Given the description of an element on the screen output the (x, y) to click on. 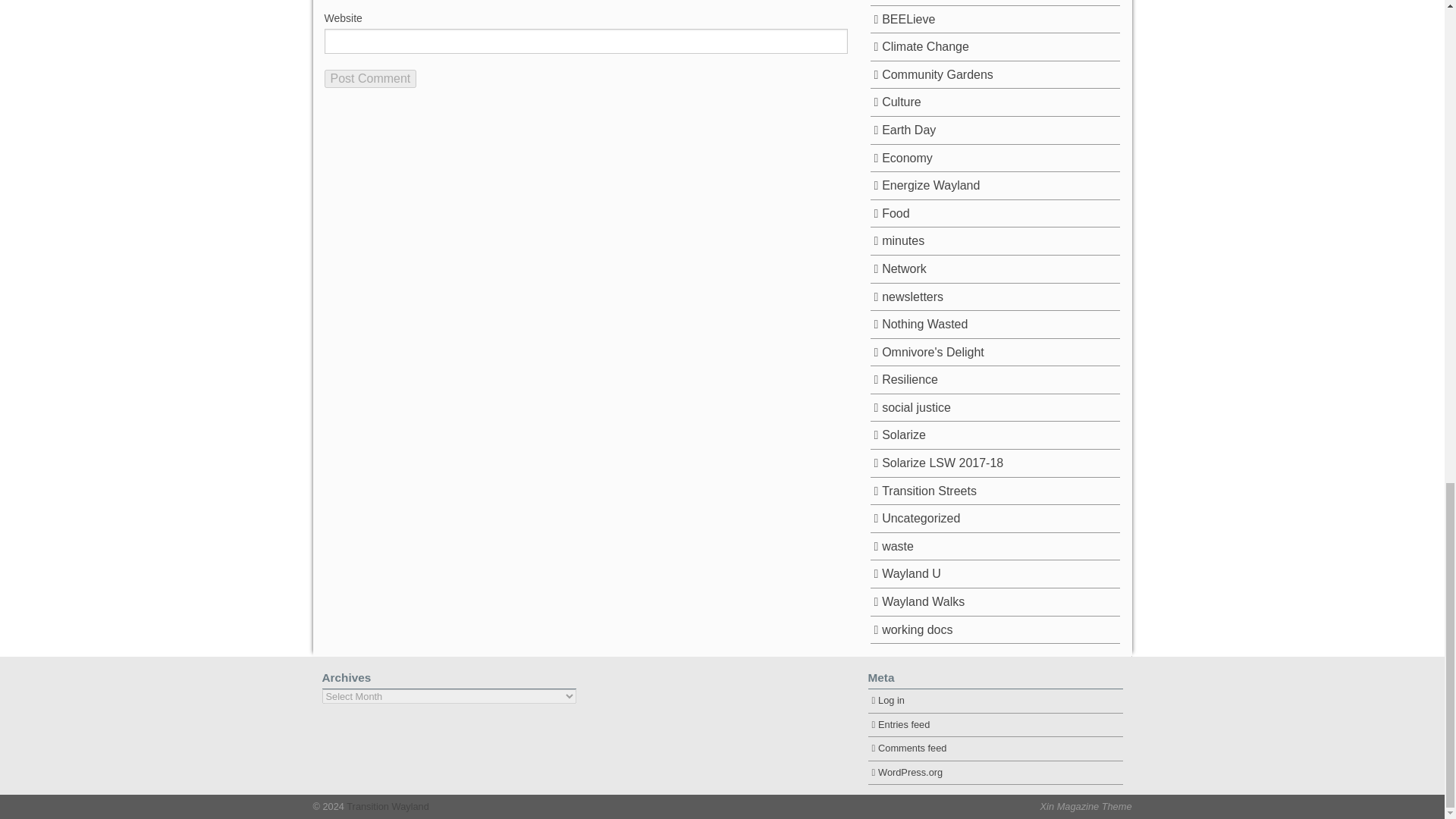
Post Comment (370, 78)
Transition Wayland (386, 806)
Designed by Stephen Cui (1086, 806)
